Given the description of an element on the screen output the (x, y) to click on. 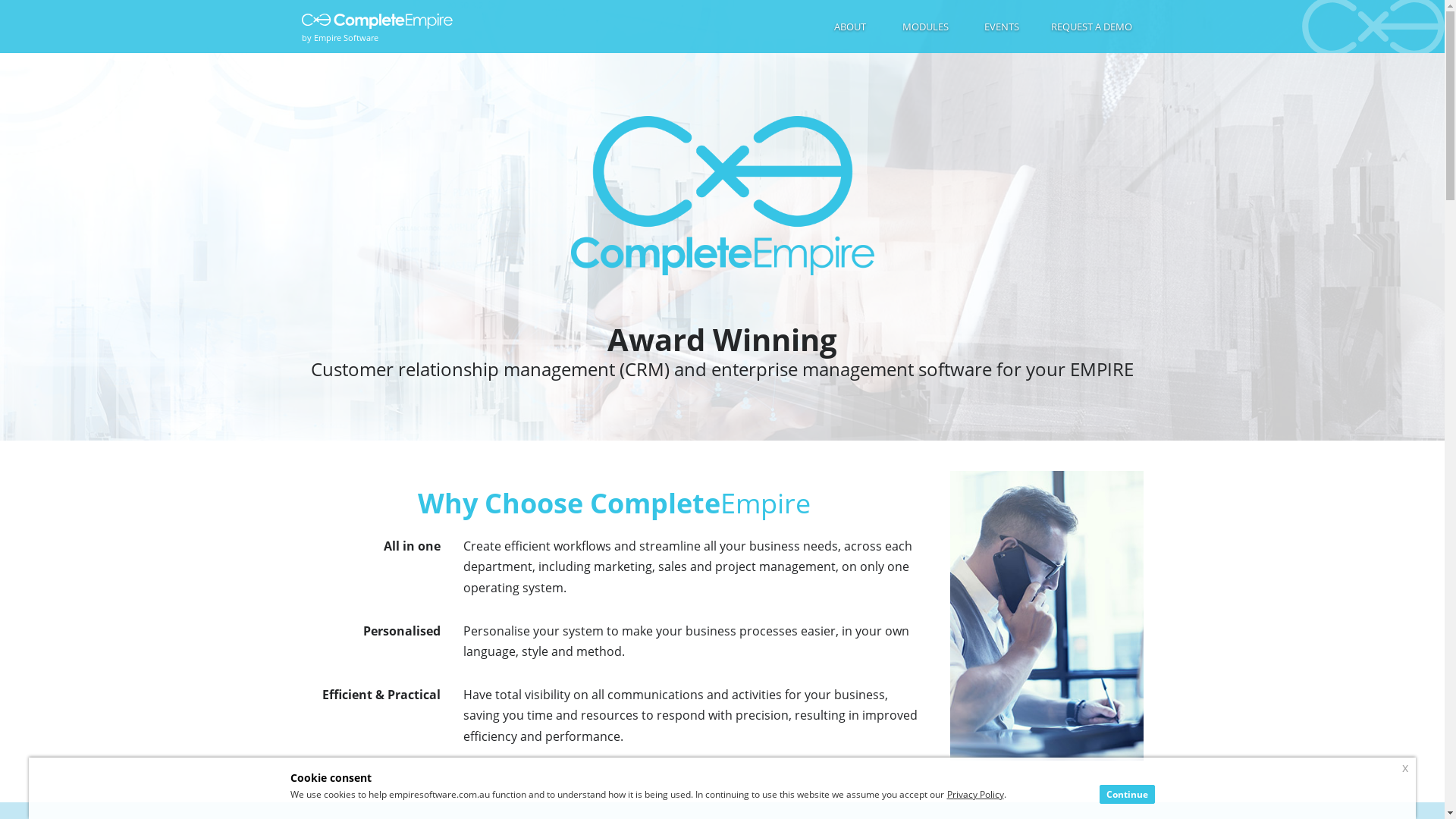
REQUEST A DEMO Element type: text (1090, 27)
EVENTS Element type: text (1000, 27)
by Empire Software Element type: text (381, 27)
Privacy Policy Element type: text (974, 793)
Continue Element type: text (1126, 793)
x Element type: text (1404, 767)
